Given the description of an element on the screen output the (x, y) to click on. 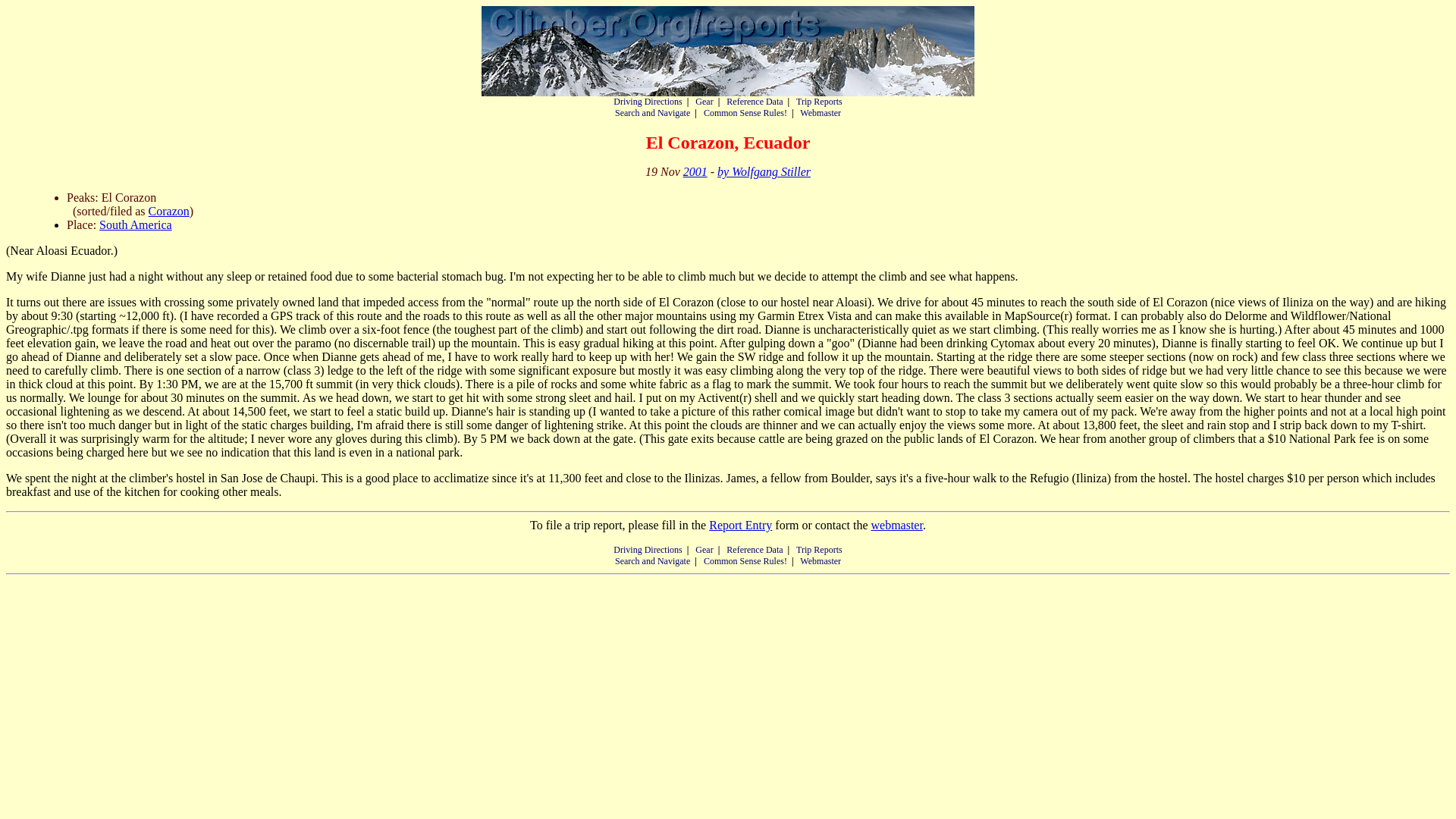
Driving Directions (646, 101)
Webmaster (820, 112)
South America (135, 224)
Common Sense Rules! (745, 112)
2001 (694, 171)
Gear (704, 101)
webmaster (895, 524)
by Wolfgang Stiller (763, 171)
Trip Reports (819, 549)
Common Sense Rules! (745, 561)
Search and Navigate (652, 112)
Gear (704, 549)
Driving Directions (646, 549)
Webmaster (820, 561)
Trip Reports (819, 101)
